Given the description of an element on the screen output the (x, y) to click on. 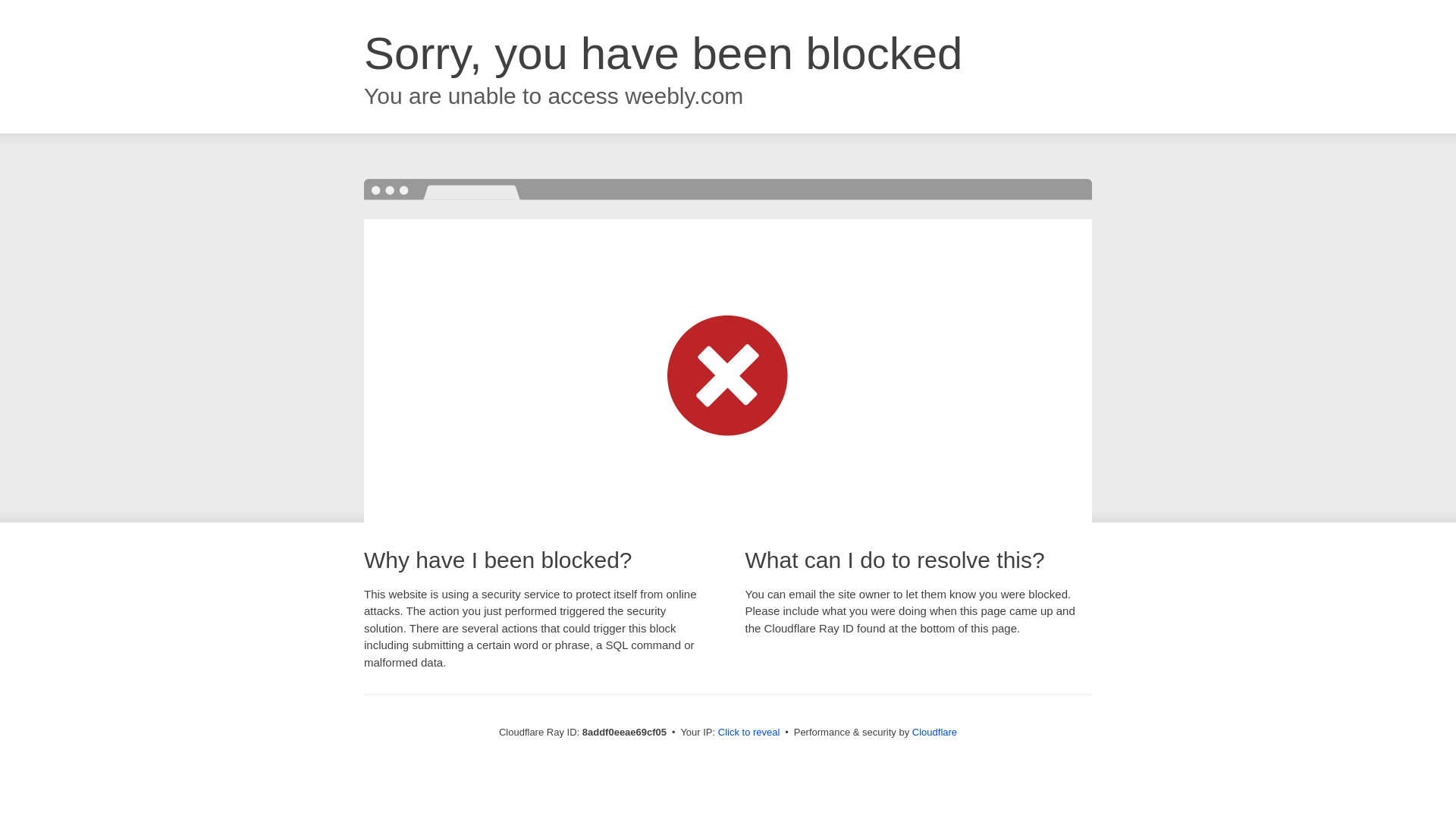
Click to reveal (748, 732)
Cloudflare (934, 731)
